Given the description of an element on the screen output the (x, y) to click on. 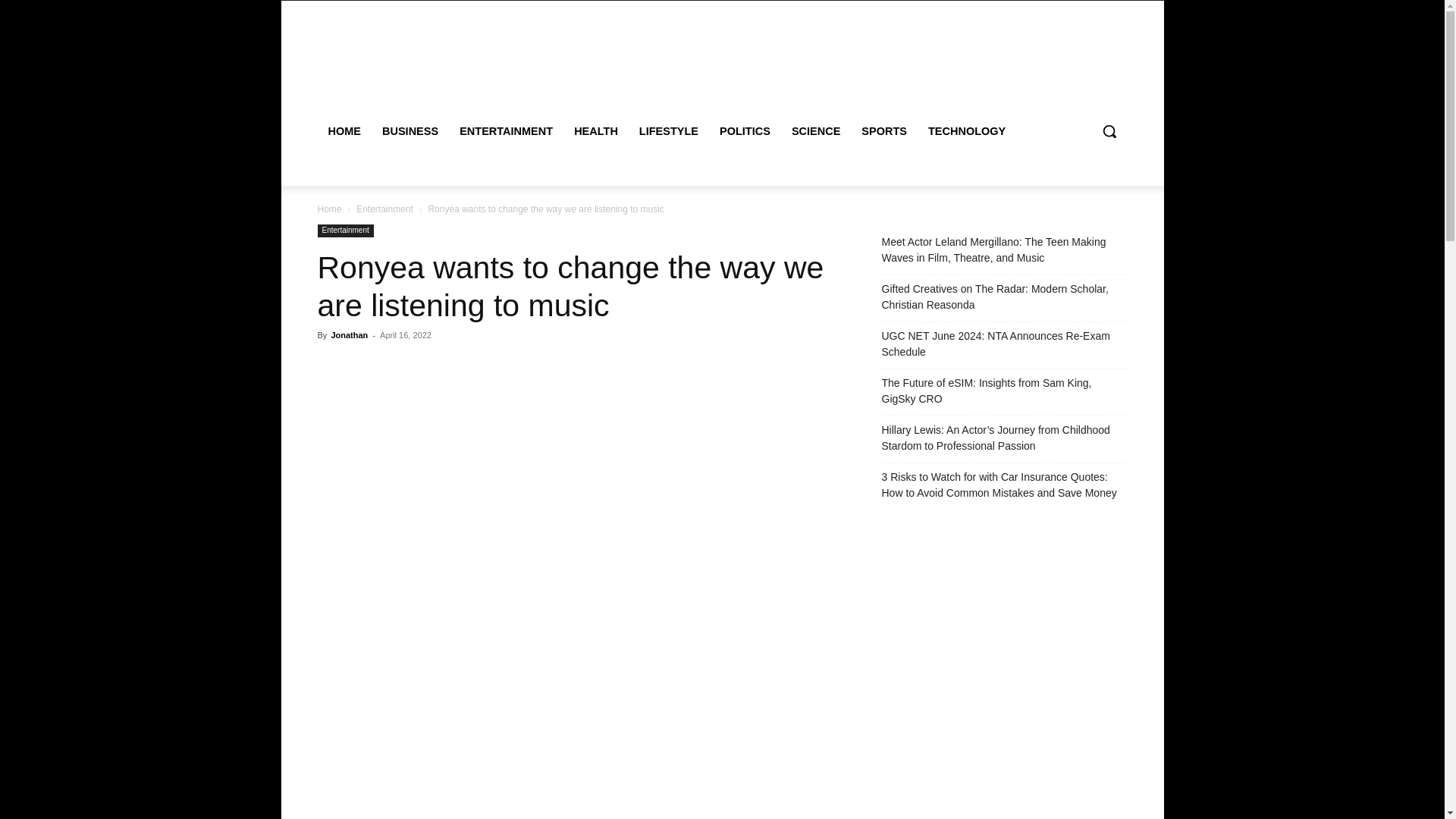
SPORTS (883, 131)
Home (328, 208)
TECHNOLOGY (966, 131)
Jonathan (349, 334)
SCIENCE (815, 131)
POLITICS (744, 131)
BUSINESS (409, 131)
Entertainment (344, 230)
HEALTH (595, 131)
View all posts in Entertainment (384, 208)
LIFESTYLE (668, 131)
Entertainment (384, 208)
HOME (344, 131)
ENTERTAINMENT (505, 131)
